Given the description of an element on the screen output the (x, y) to click on. 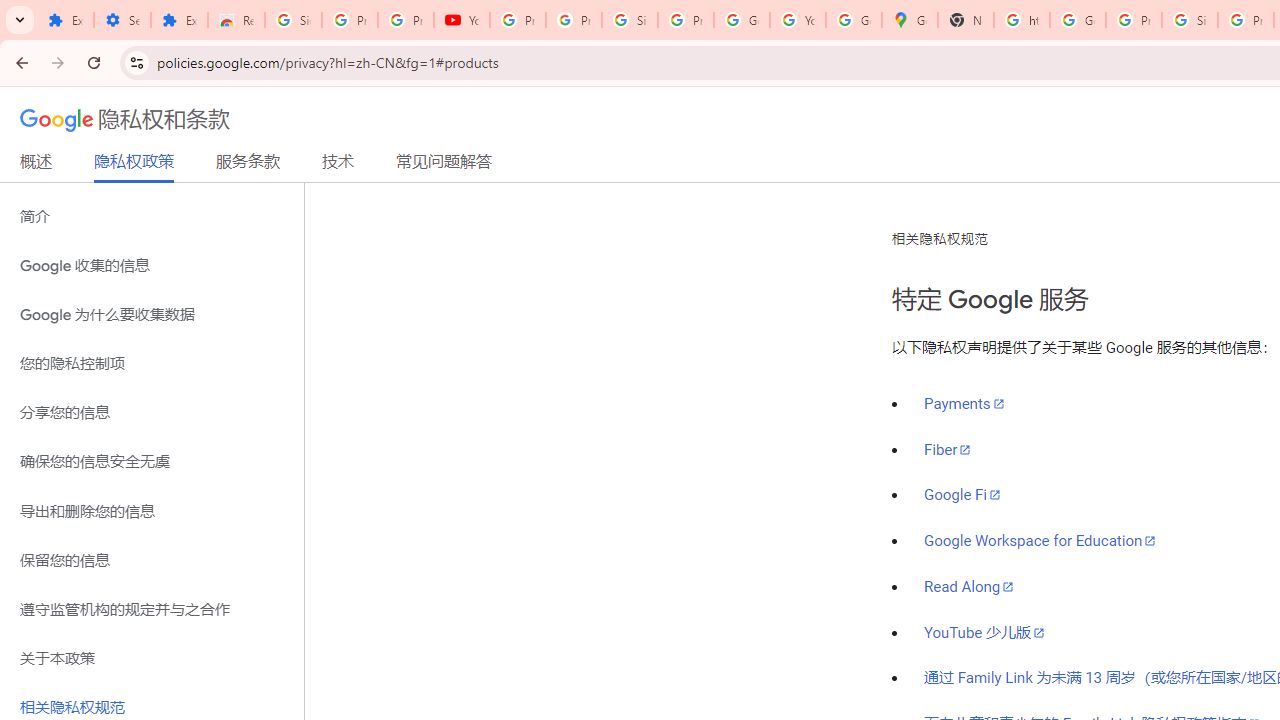
Google Fi (962, 495)
Google Account (742, 20)
Payments (964, 404)
Read Along (969, 586)
New Tab (966, 20)
Google Workspace for Education (1040, 541)
